Given the description of an element on the screen output the (x, y) to click on. 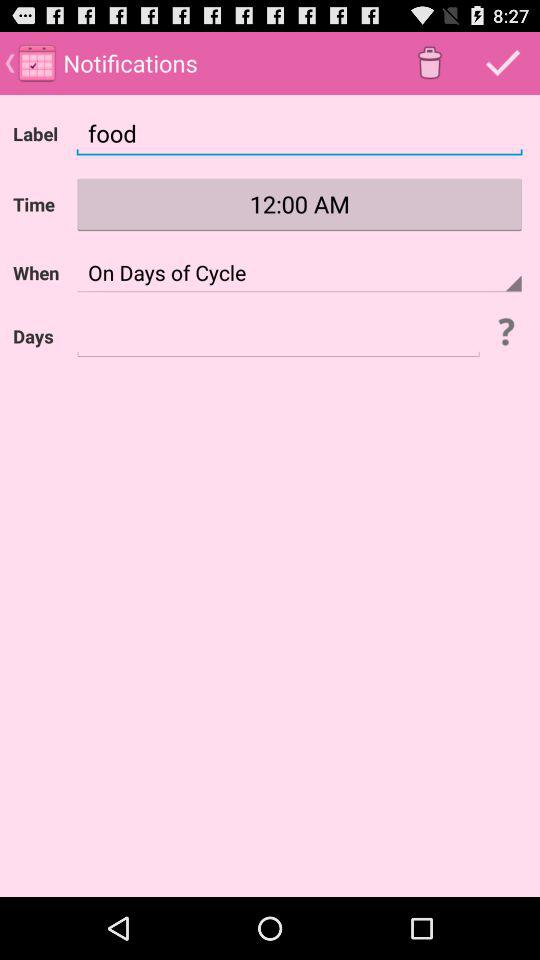
enter date s (278, 335)
